Given the description of an element on the screen output the (x, y) to click on. 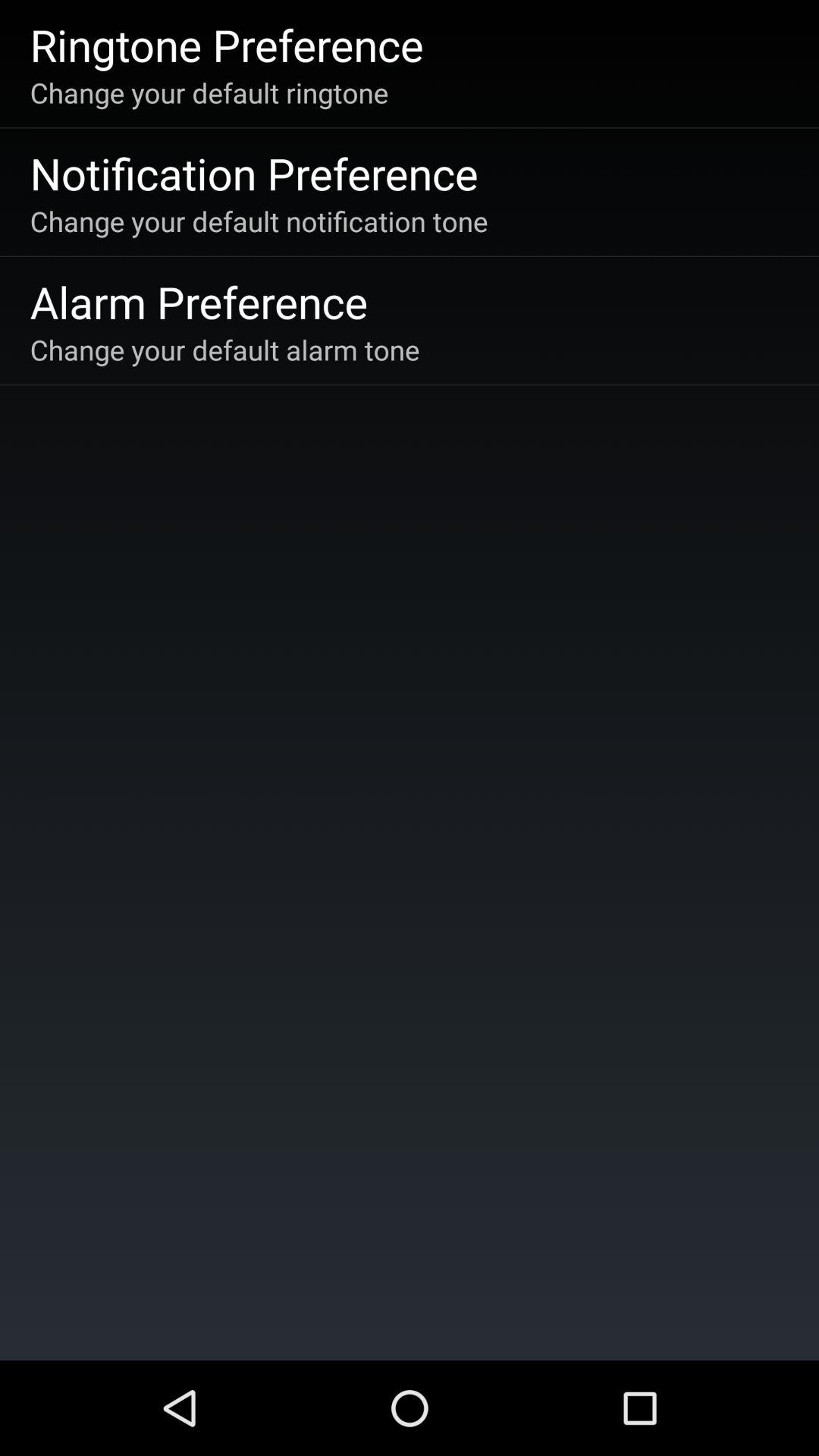
flip to ringtone preference app (226, 44)
